Given the description of an element on the screen output the (x, y) to click on. 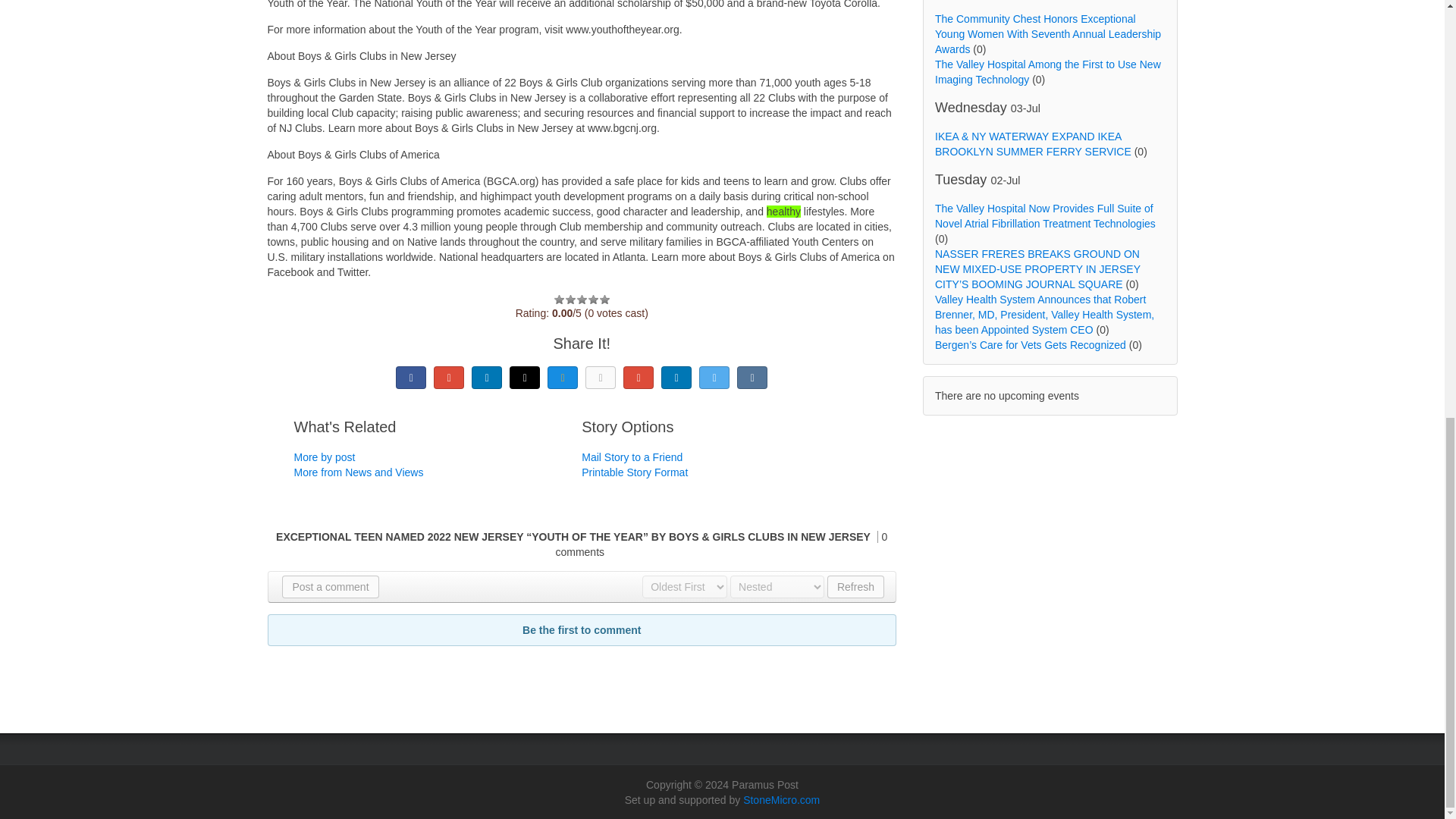
reddit (676, 377)
Pinterest (638, 377)
vk (751, 377)
Facebook (411, 377)
Mail.ru (562, 377)
LinkedIn (486, 377)
Twitter (713, 377)
Live Journal (524, 377)
More by post (324, 457)
Odnoklassniki (600, 377)
More from News and Views (358, 472)
